Given the description of an element on the screen output the (x, y) to click on. 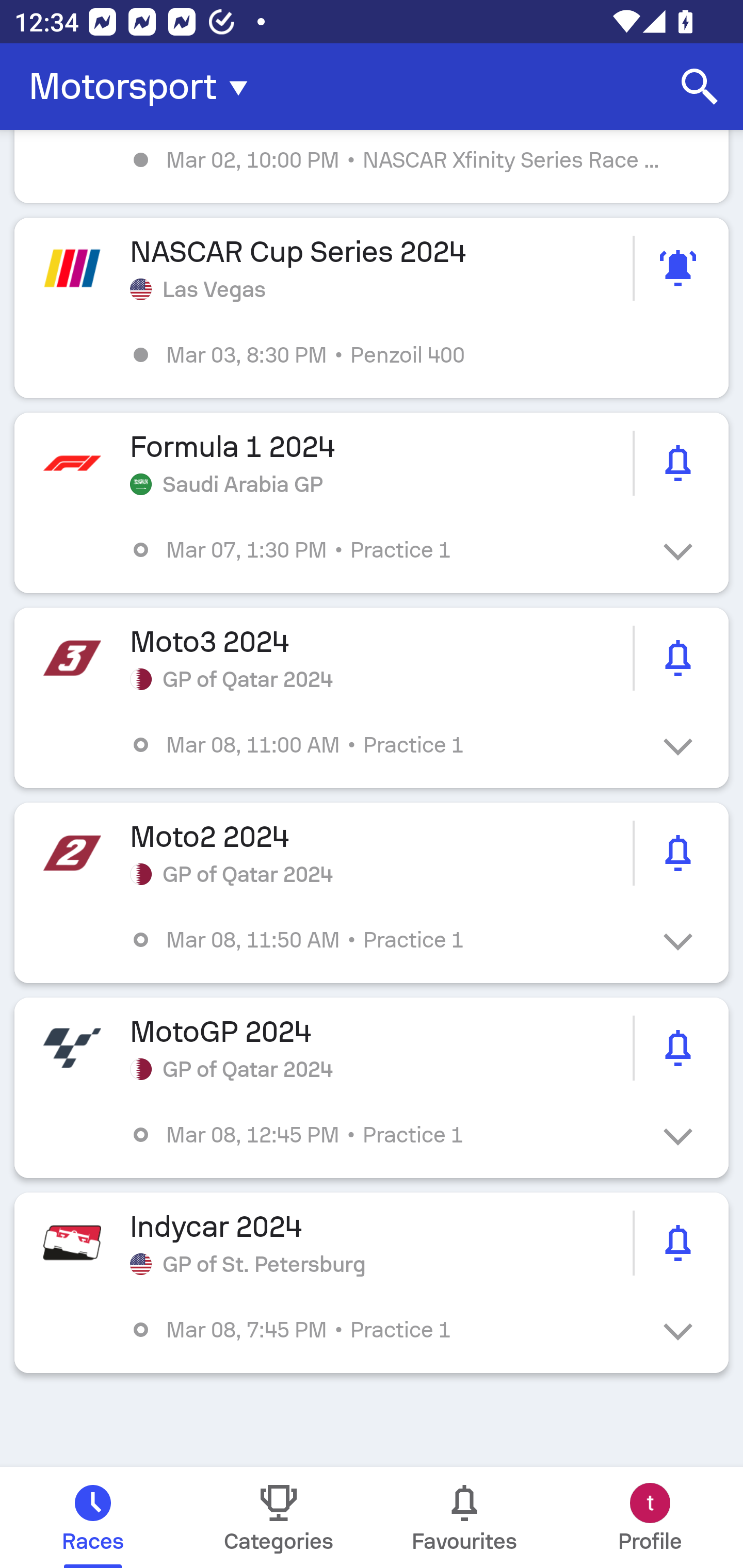
Motorsport (144, 86)
Search (699, 86)
Mar 07, 1:30 PM • Practice 1 (385, 549)
Mar 08, 11:00 AM • Practice 1 (385, 744)
Mar 08, 11:50 AM • Practice 1 (385, 939)
Mar 08, 12:45 PM • Practice 1 (385, 1134)
Mar 08, 7:45 PM • Practice 1 (385, 1329)
Categories (278, 1517)
Favourites (464, 1517)
Profile (650, 1517)
